Given the description of an element on the screen output the (x, y) to click on. 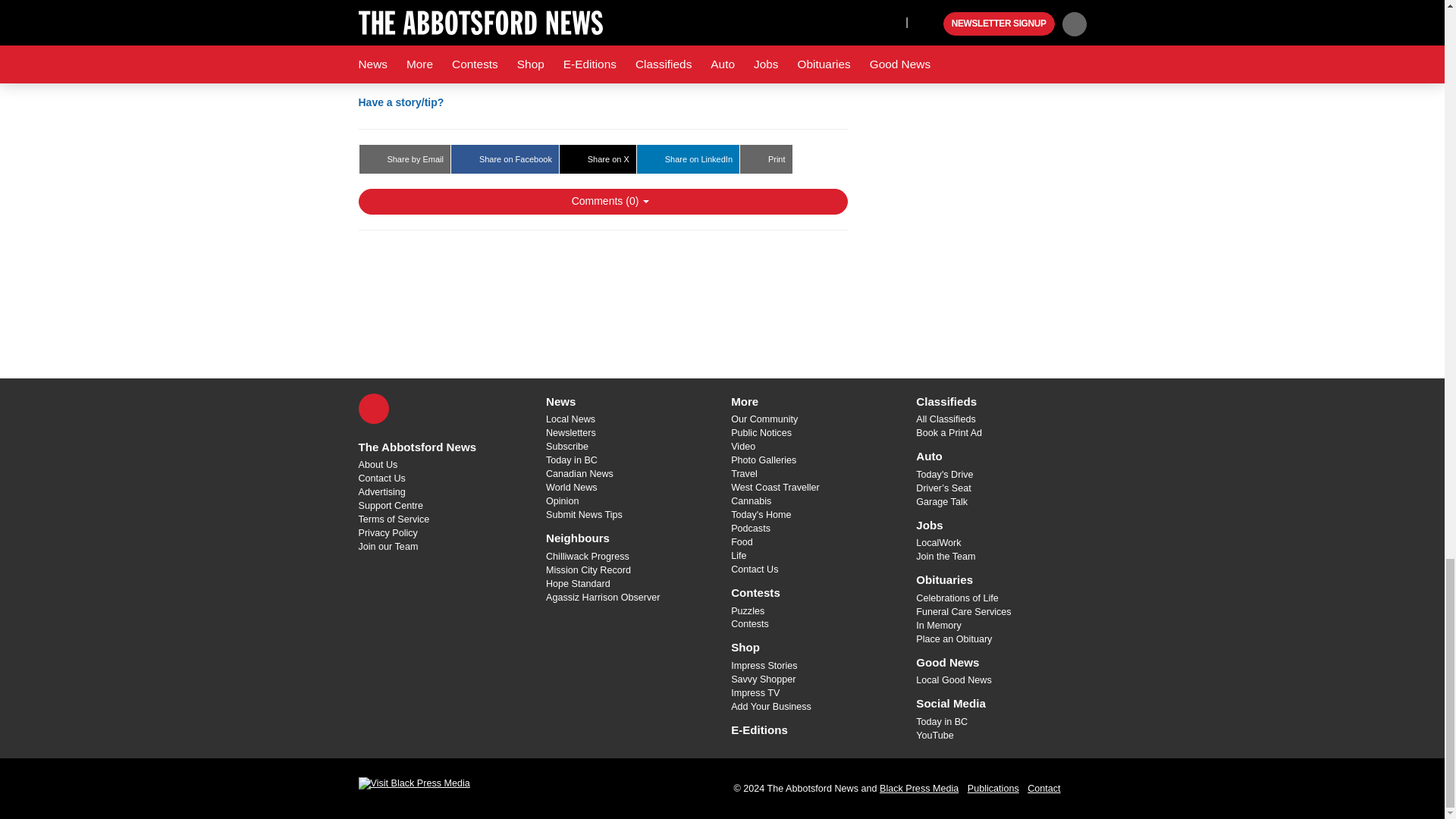
related story (583, 28)
Show Comments (602, 201)
X (373, 408)
